Given the description of an element on the screen output the (x, y) to click on. 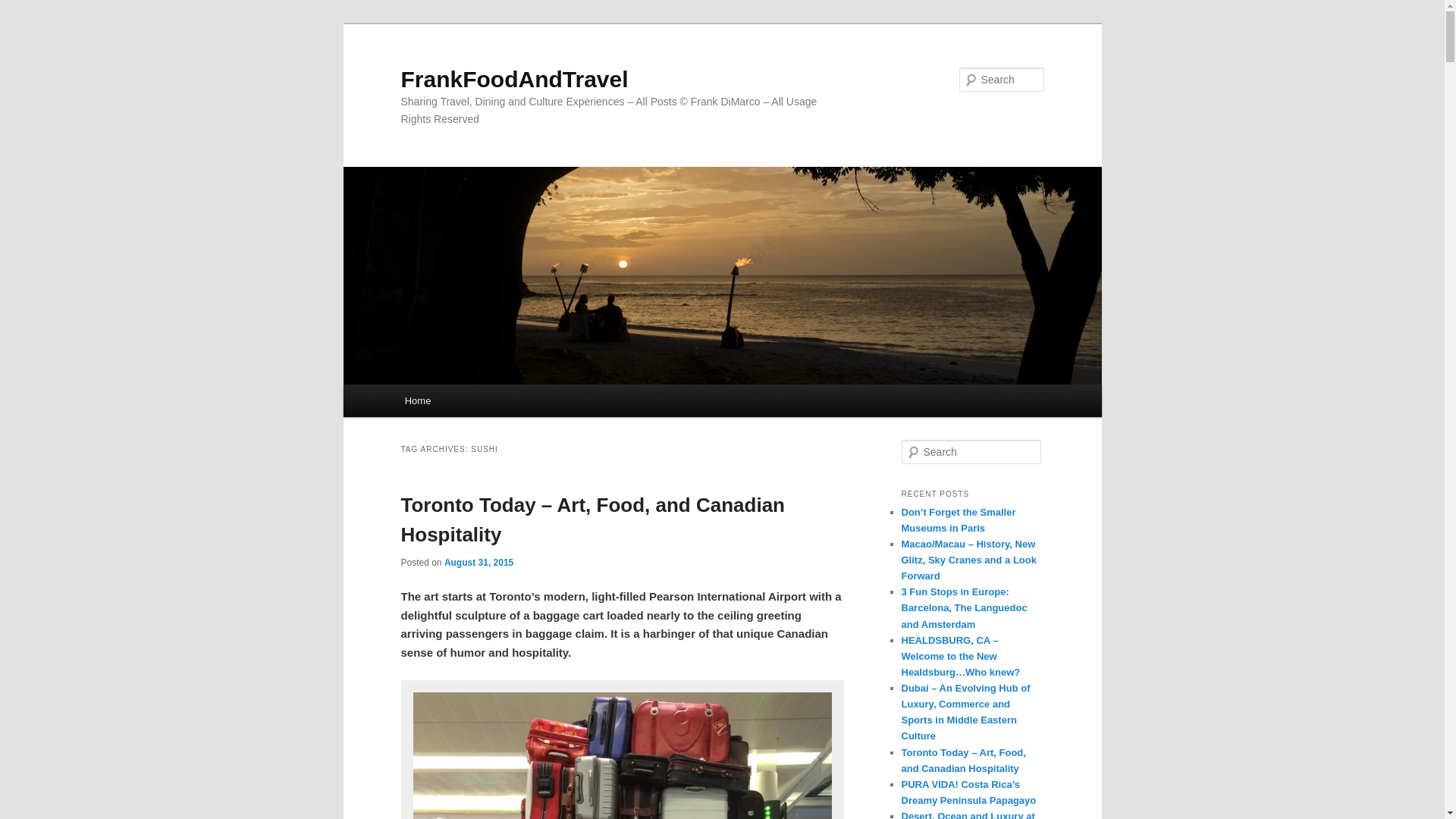
4:51 PM (478, 562)
FrankFoodAndTravel (513, 78)
Home (417, 400)
Search (24, 8)
August 31, 2015 (478, 562)
